Given the description of an element on the screen output the (x, y) to click on. 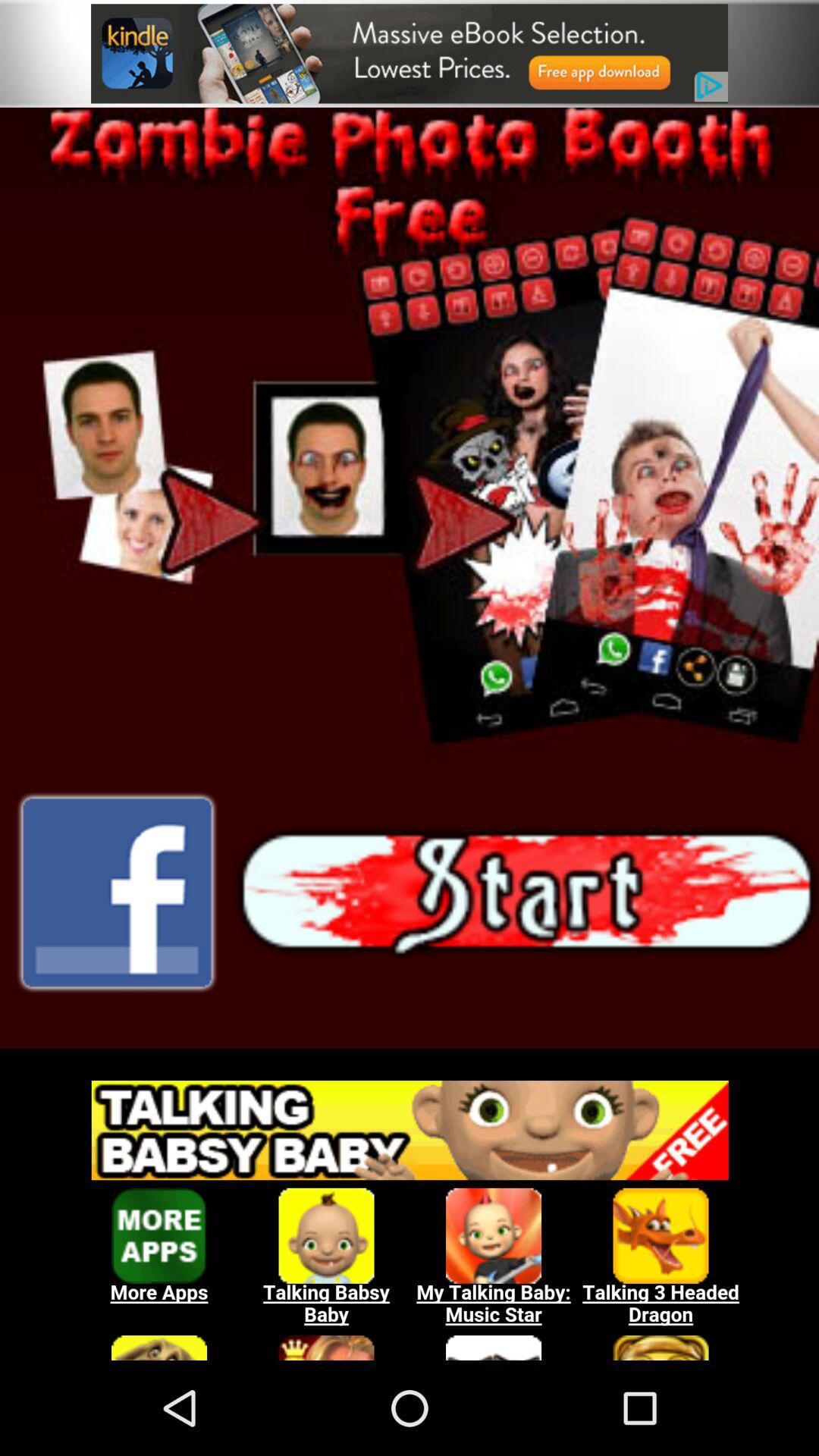
click to start (526, 892)
